Given the description of an element on the screen output the (x, y) to click on. 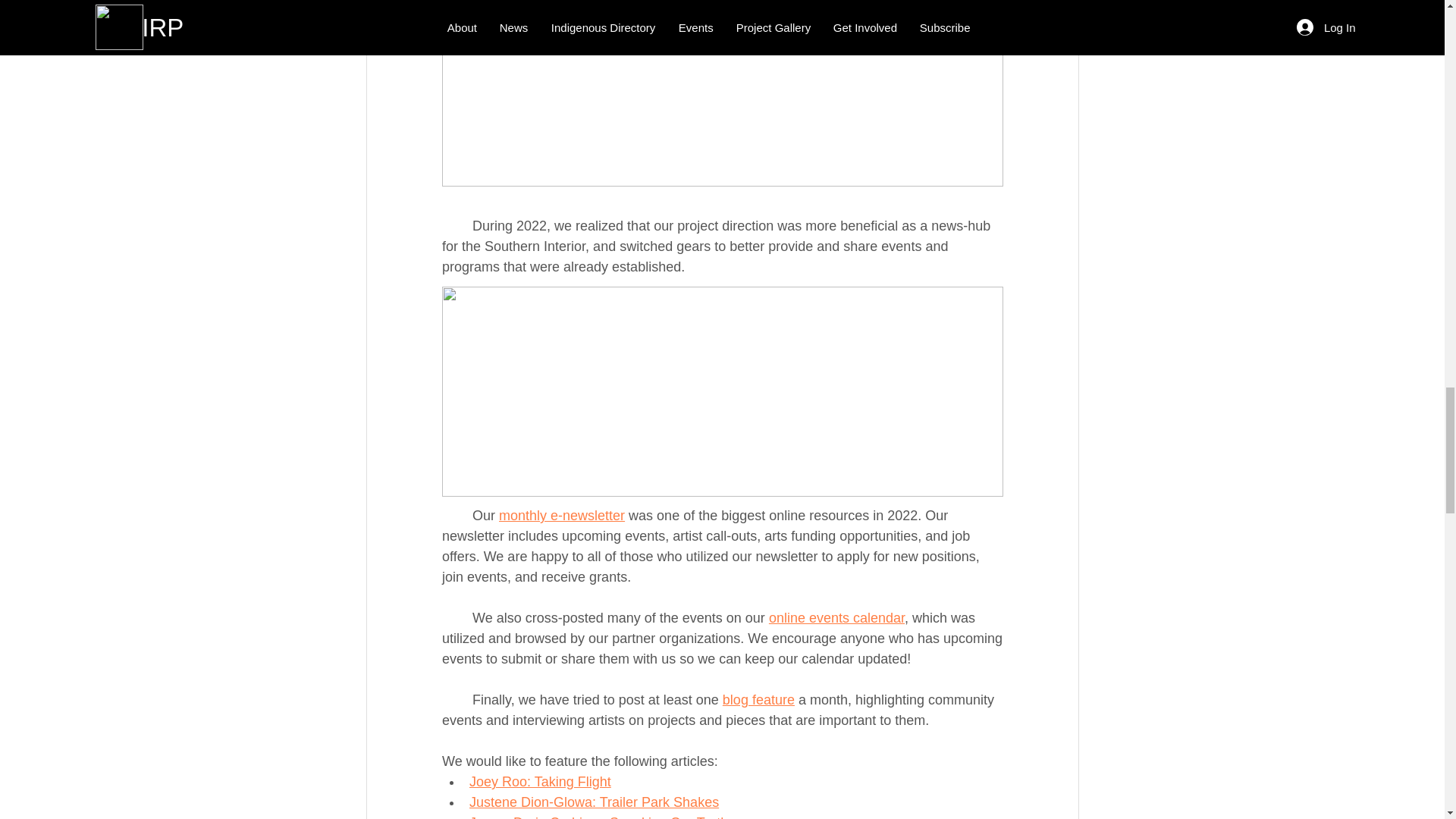
online events calendar (836, 617)
Justene Dion-Glowa: Trailer Park Shakes (592, 801)
blog feature (757, 699)
monthly e-newsletter (561, 515)
Joey Roo: Taking Flight (539, 781)
James Darin Corbiere: Speaking Our Truth (597, 816)
